Given the description of an element on the screen output the (x, y) to click on. 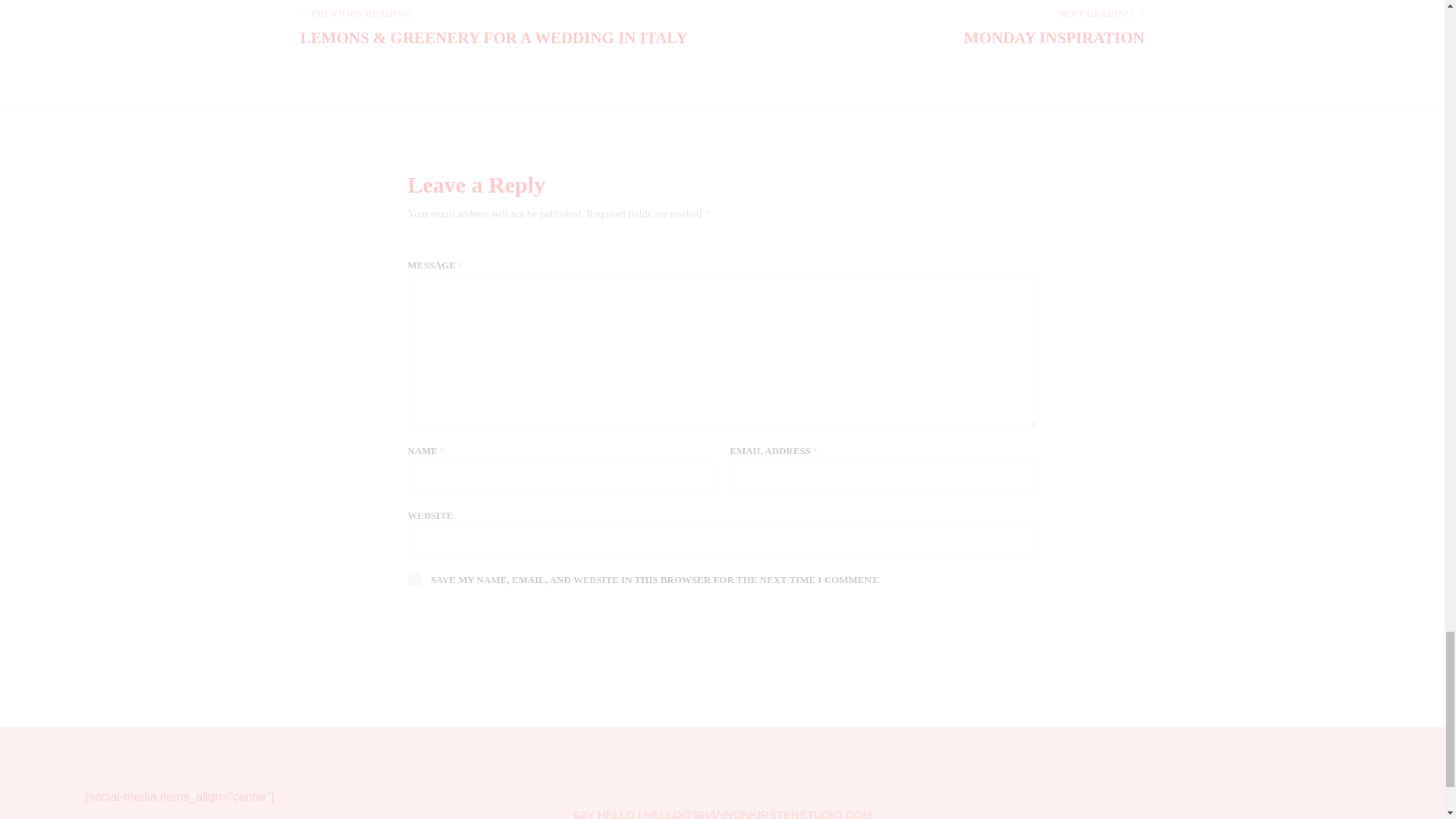
Post Comment (491, 631)
yes (413, 578)
